Given the description of an element on the screen output the (x, y) to click on. 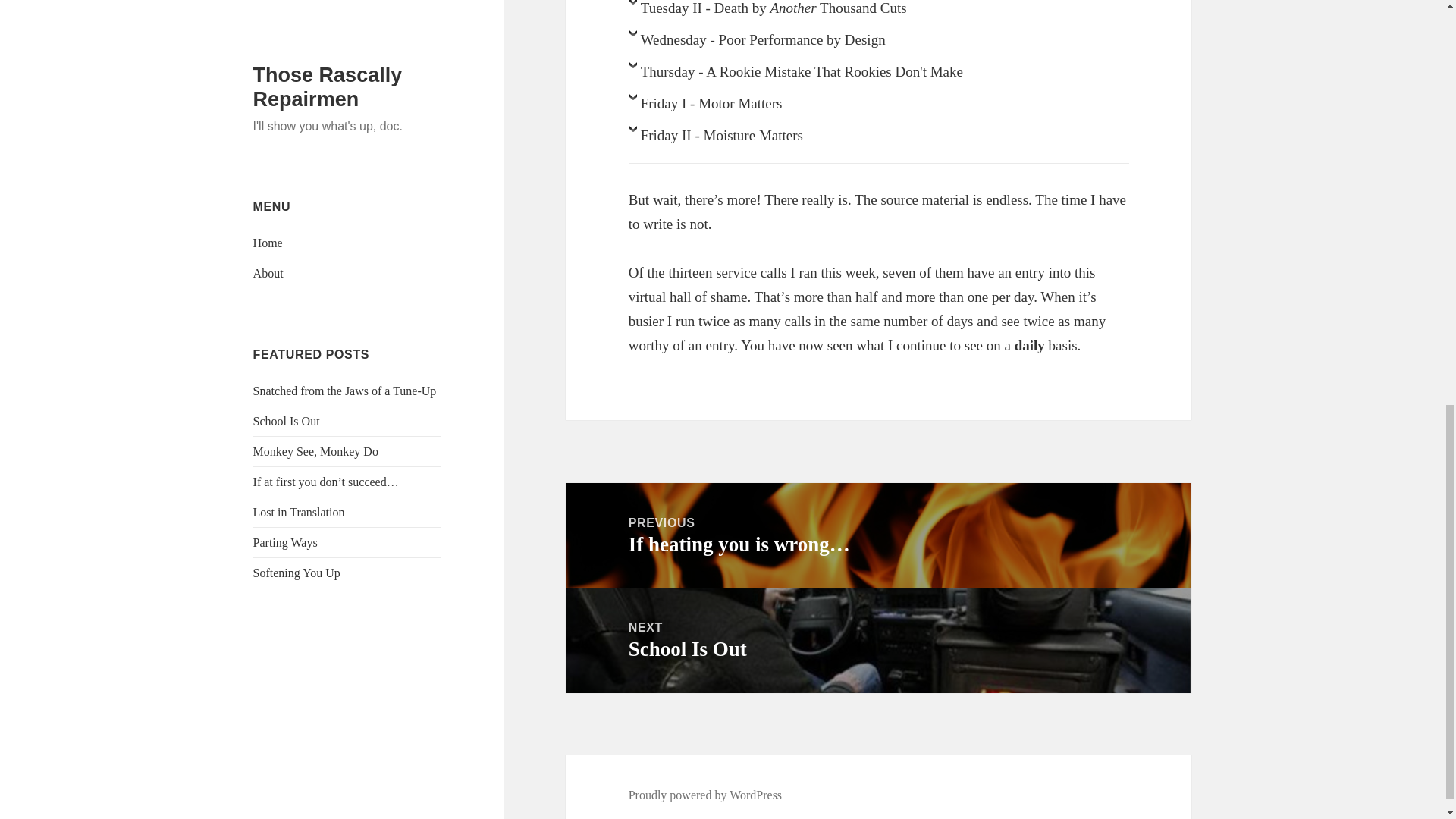
Thursday - A Rookie Mistake That Rookies Don't Make (878, 75)
Wednesday - Poor Performance by Design (878, 43)
Proudly powered by WordPress (704, 795)
Friday II - Moisture Matters (878, 139)
Friday I - Motor Matters (878, 640)
